Given the description of an element on the screen output the (x, y) to click on. 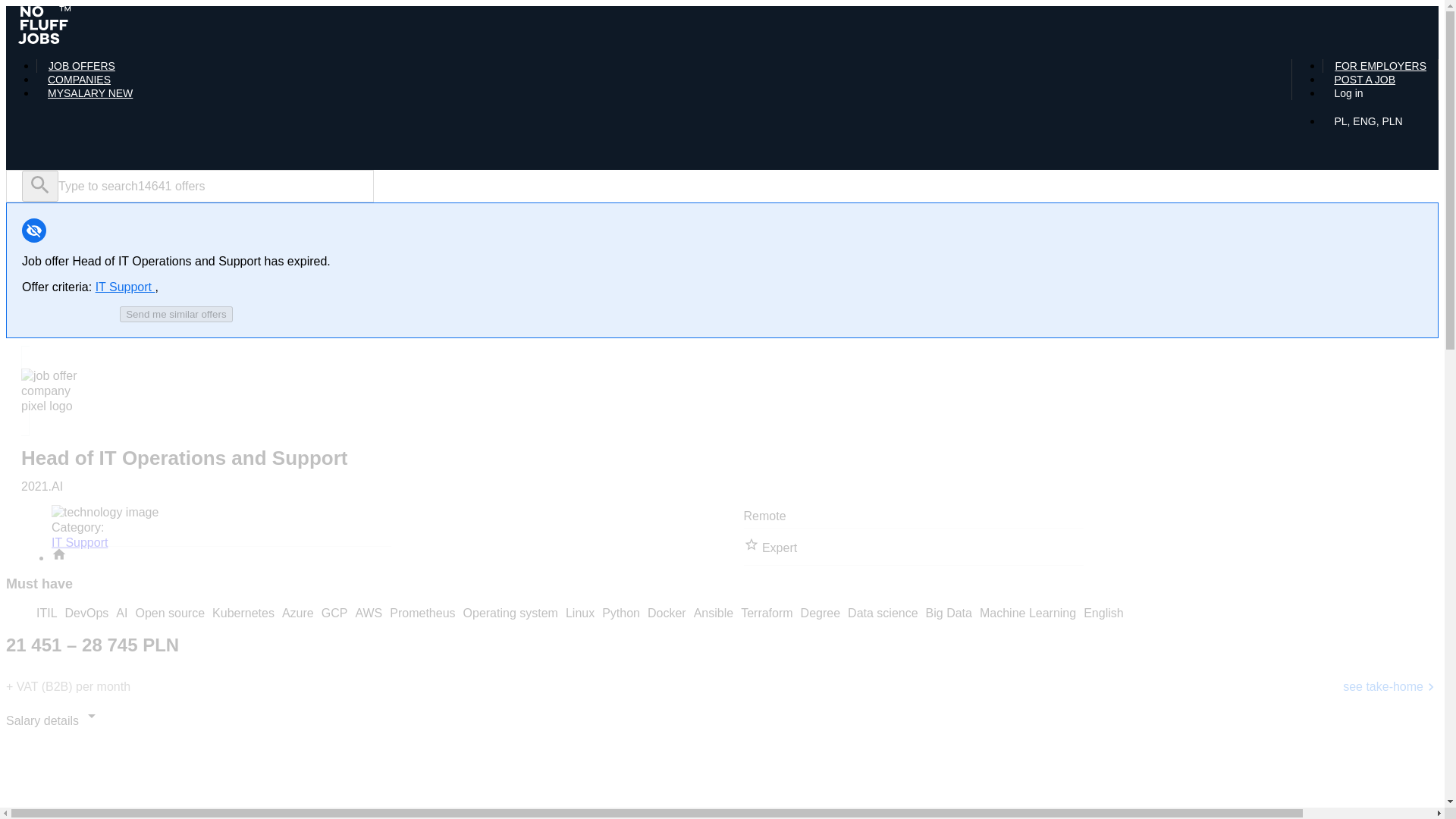
2021.AI (41, 486)
IT Support (125, 286)
POST A JOB (1364, 79)
JOB OFFERS (81, 65)
IT Support (78, 542)
COMPANIES (79, 79)
FOR EMPLOYERS (1380, 65)
see take-home (1390, 686)
Send me similar offers (175, 314)
MYSALARY NEW (90, 92)
